Given the description of an element on the screen output the (x, y) to click on. 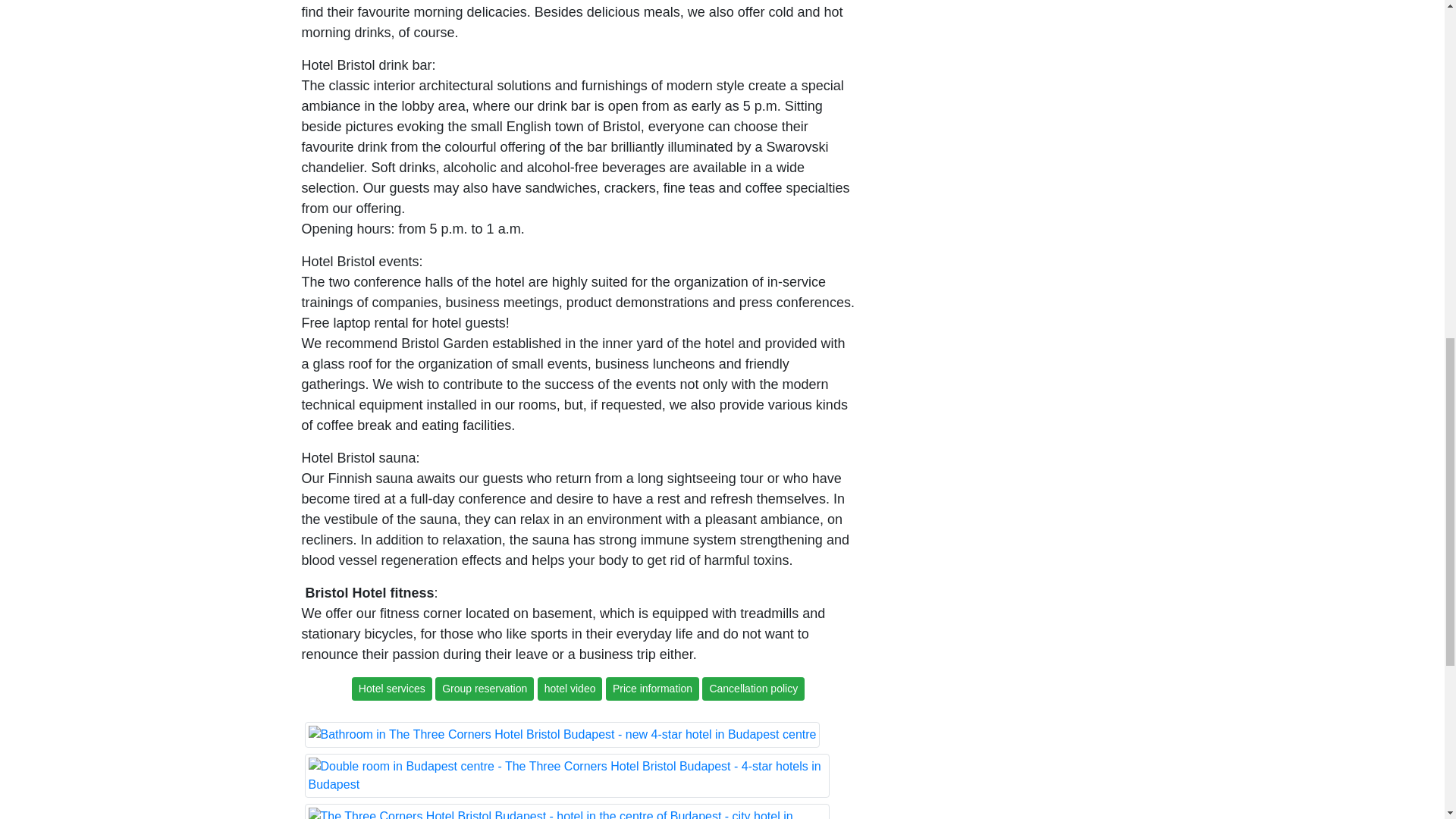
Price information (654, 687)
Group reservation (486, 687)
hotel video (571, 687)
Cancellation policy (753, 687)
Hotel services (392, 687)
